Given the description of an element on the screen output the (x, y) to click on. 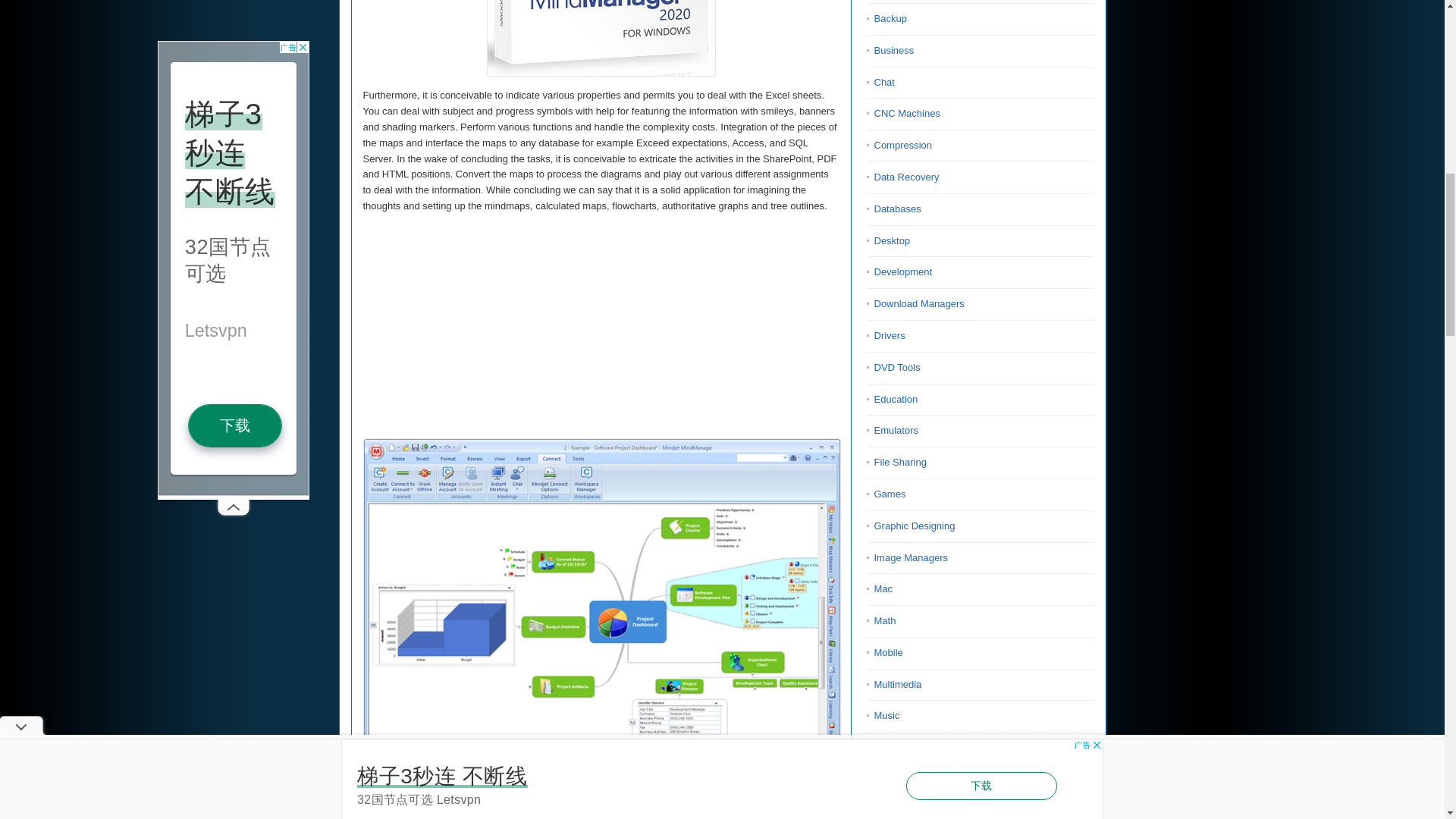
Advertisement (600, 332)
